Given the description of an element on the screen output the (x, y) to click on. 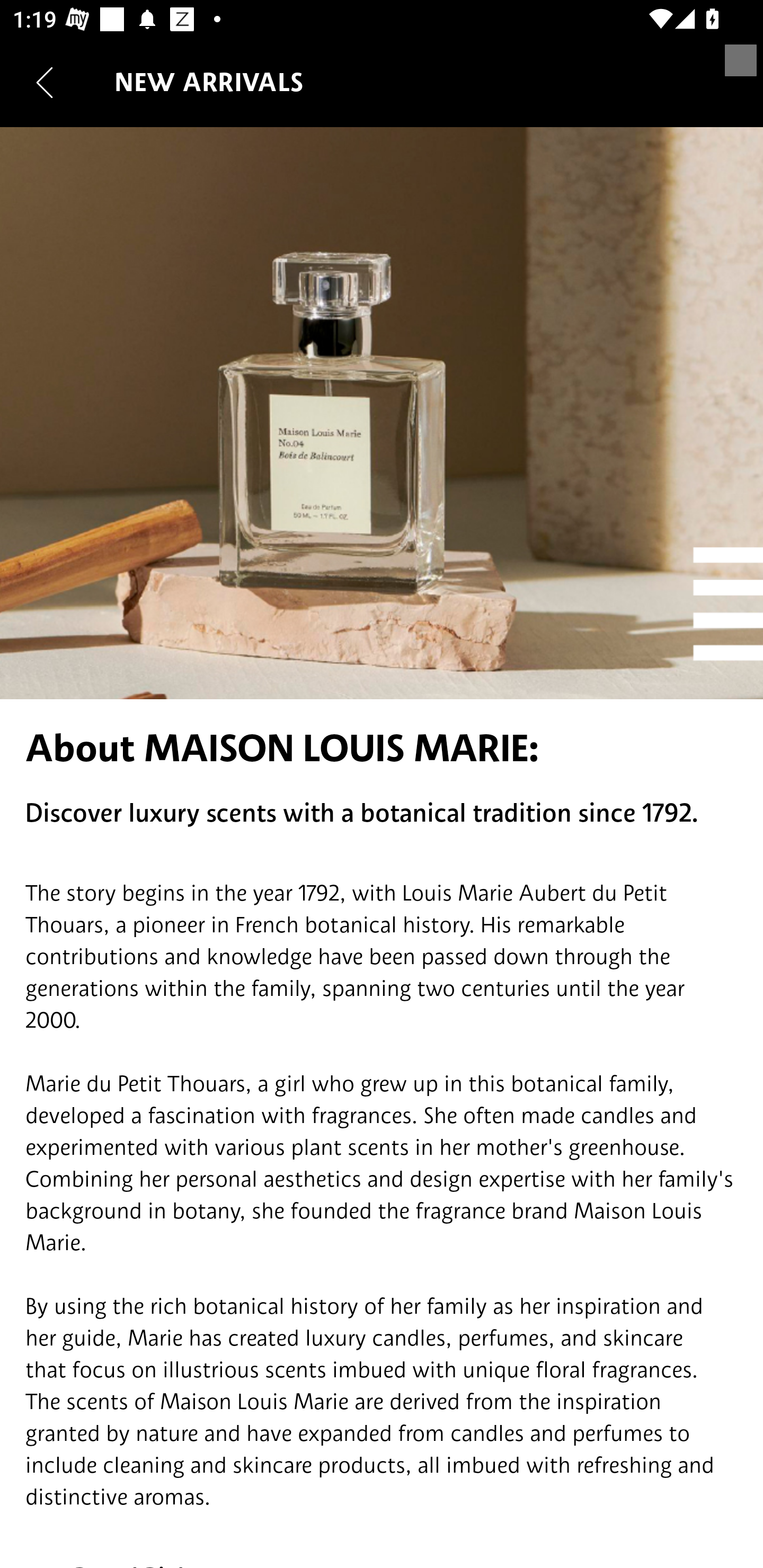
Navigate up (44, 82)
About MAISON LOUIS MARIE: (381, 747)
